Given the description of an element on the screen output the (x, y) to click on. 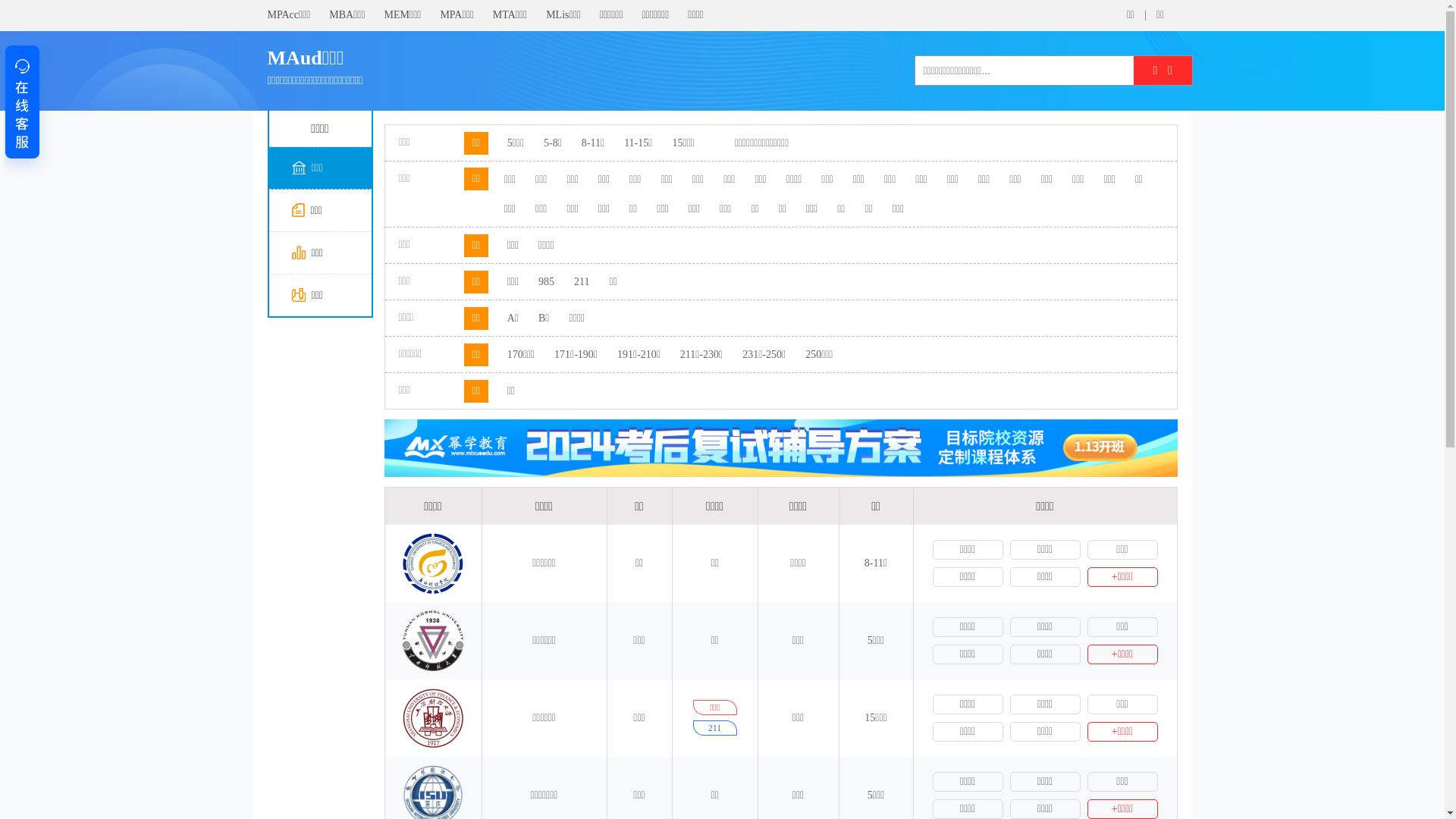
985 Element type: text (546, 281)
211 Element type: text (581, 281)
